Given the description of an element on the screen output the (x, y) to click on. 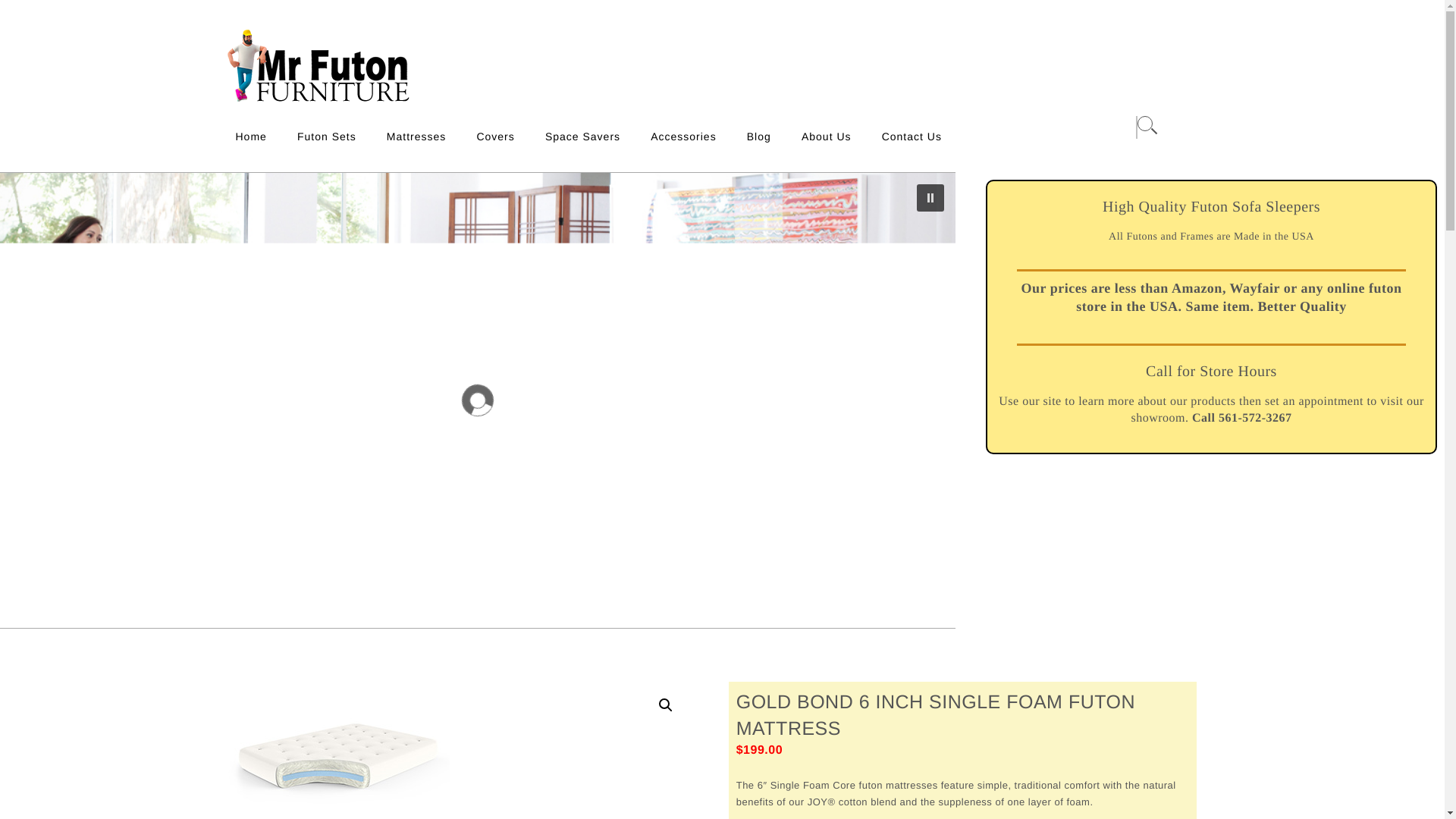
Mr Futon Furniture Store (279, 115)
Contact Us (911, 136)
Futon Sets (326, 136)
Home (250, 136)
Blog (758, 136)
About Us (825, 136)
Space Savers (582, 136)
Mattresses (416, 136)
6-inch-single-foam-featuredimage (334, 750)
